Given the description of an element on the screen output the (x, y) to click on. 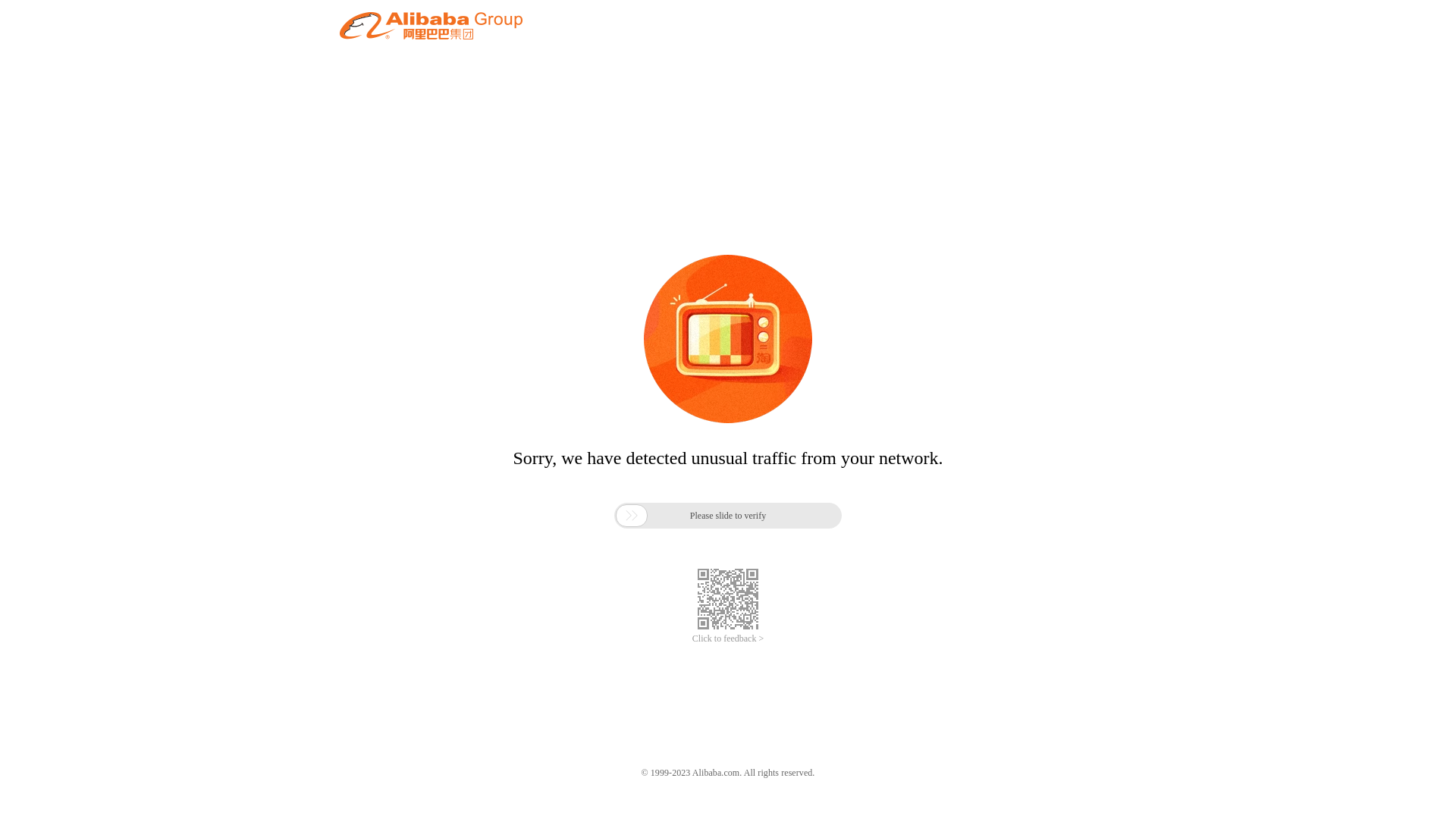
Click to feedback > Element type: text (727, 638)
